Given the description of an element on the screen output the (x, y) to click on. 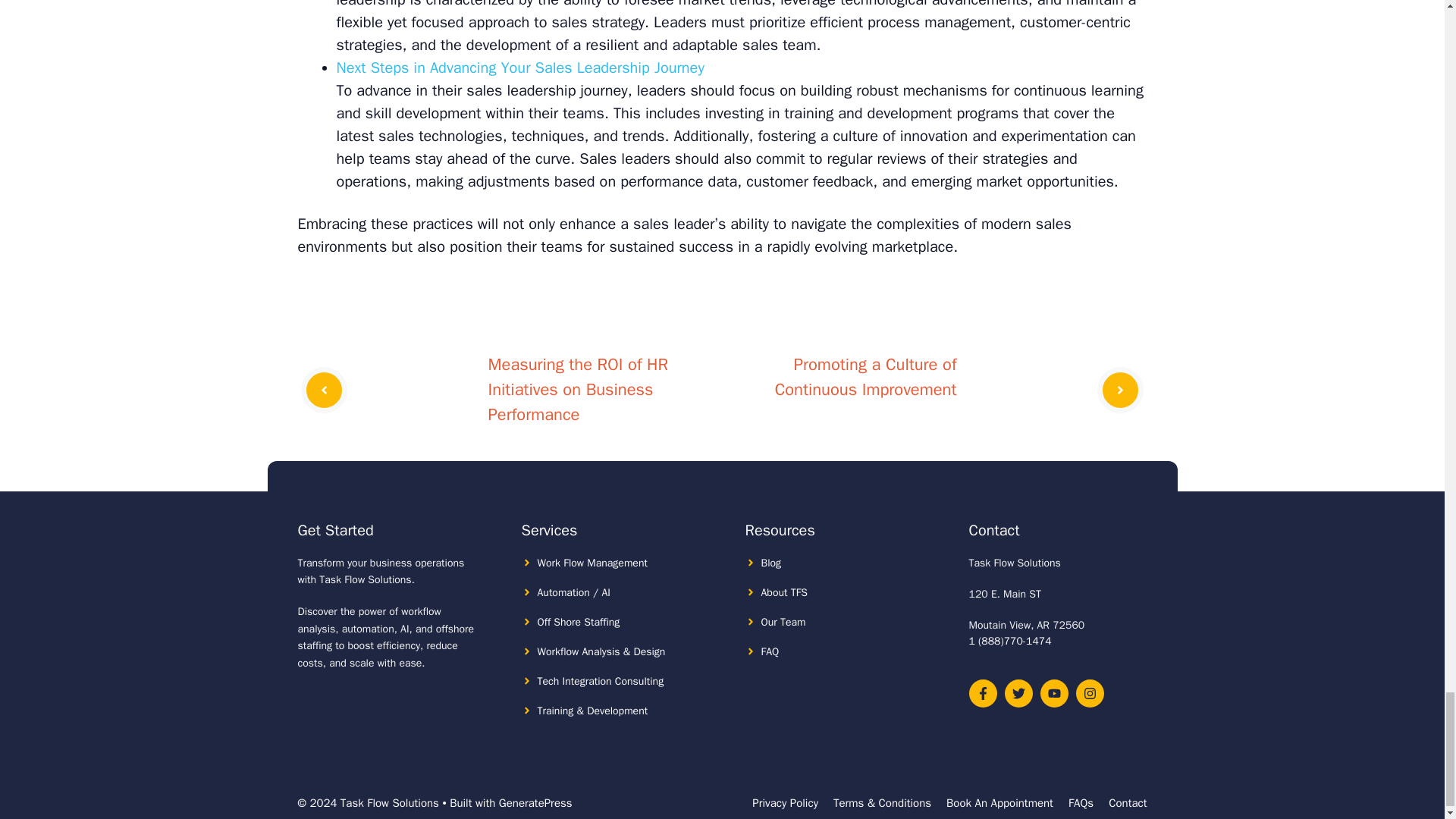
Off Shore Staffing (578, 621)
Our Team (783, 621)
Blog (771, 562)
Tech Integration Consulting (600, 680)
Measuring the ROI of HR Initiatives on Business Performance (577, 389)
customer-centric strategies (733, 33)
FAQ (769, 651)
Promoting a Culture of Continuous Improvement (865, 376)
Work Flow Management (591, 562)
About TFS (784, 592)
sales leadership journey (546, 90)
